Given the description of an element on the screen output the (x, y) to click on. 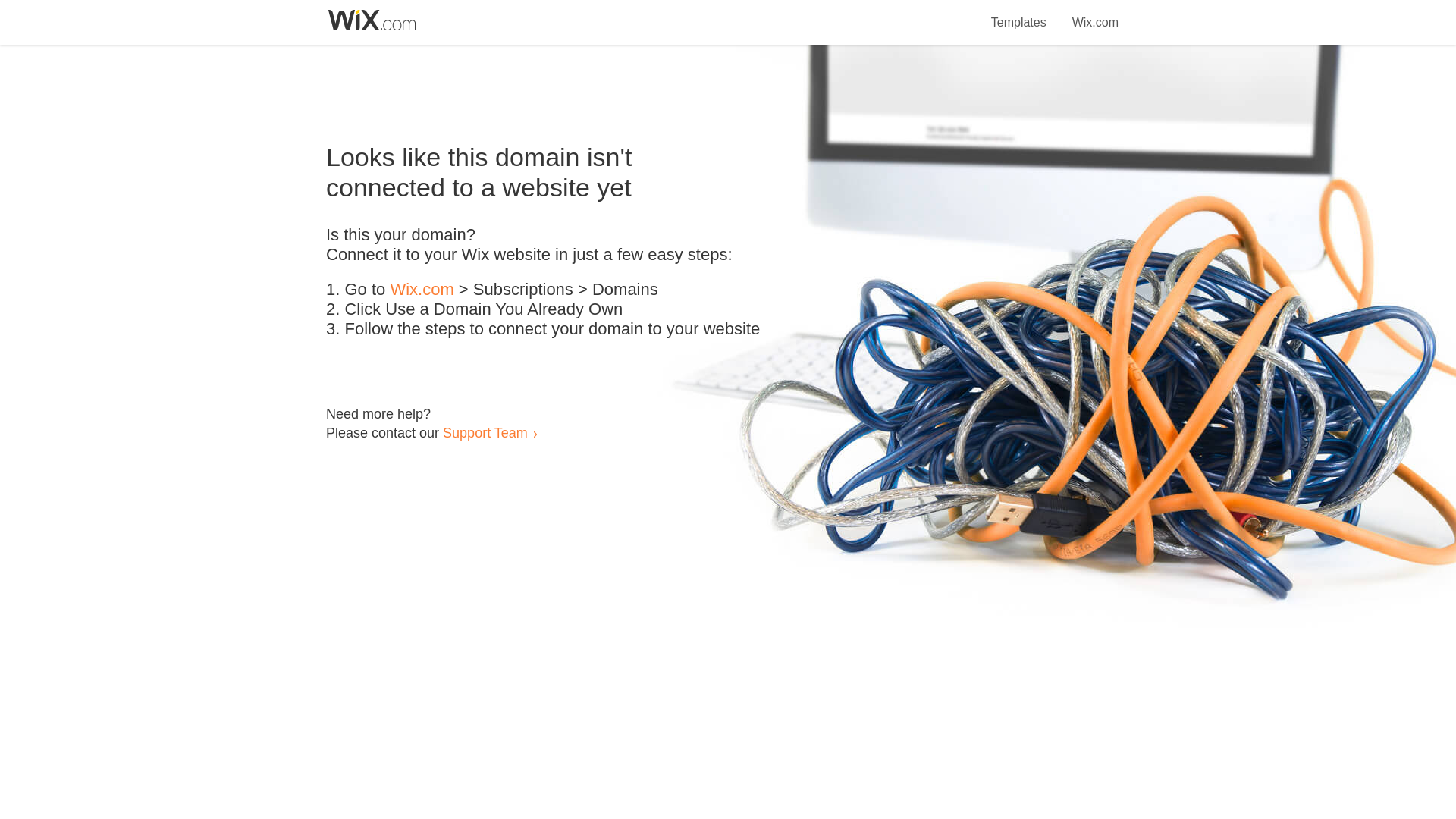
Wix.com (1095, 14)
Wix.com (421, 289)
Support Team (484, 432)
Templates (1018, 14)
